Given the description of an element on the screen output the (x, y) to click on. 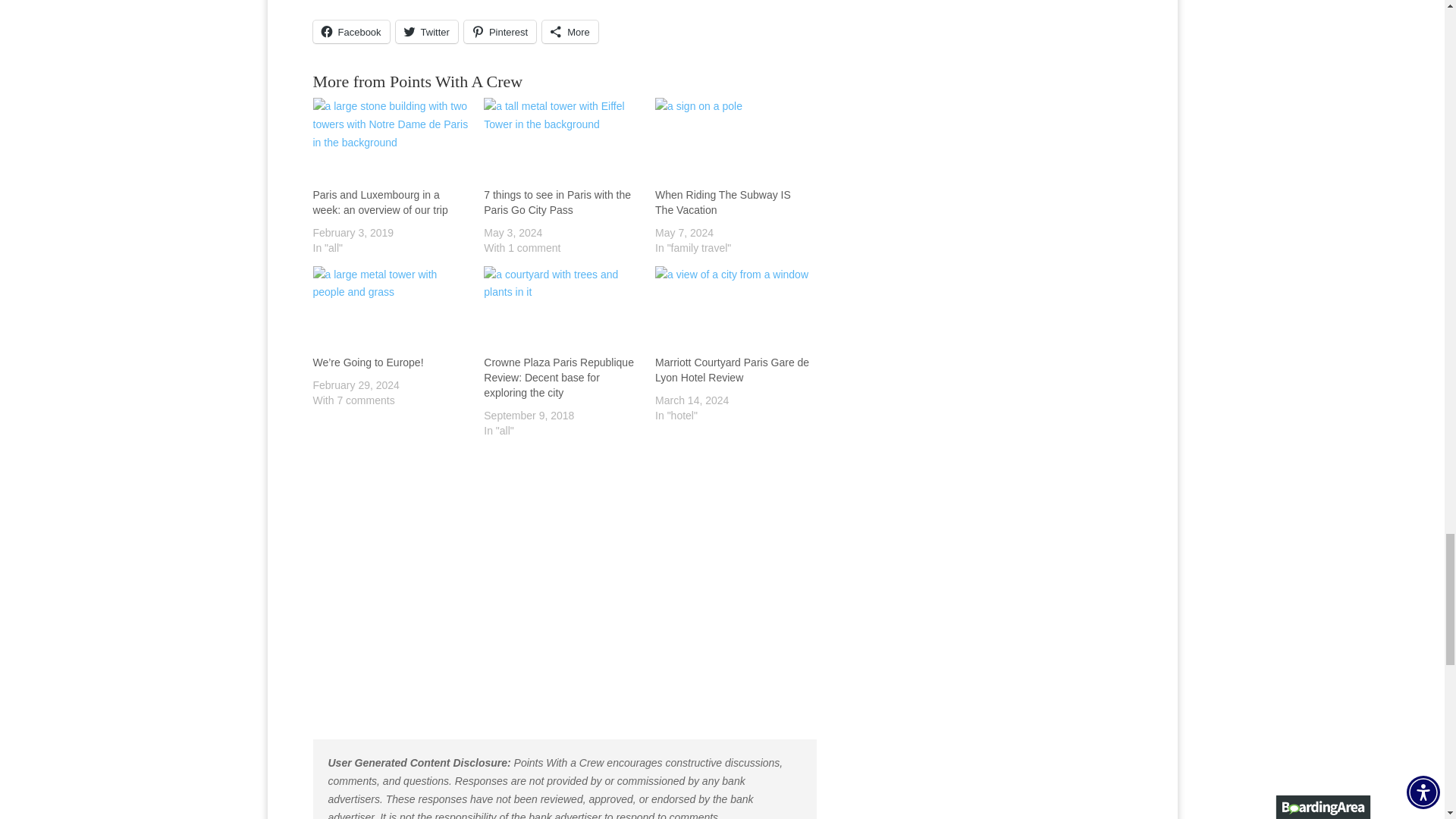
Click to share on Facebook (350, 31)
Facebook (350, 31)
Click to share on Twitter (427, 31)
Twitter (427, 31)
Click to share on Pinterest (499, 31)
